Given the description of an element on the screen output the (x, y) to click on. 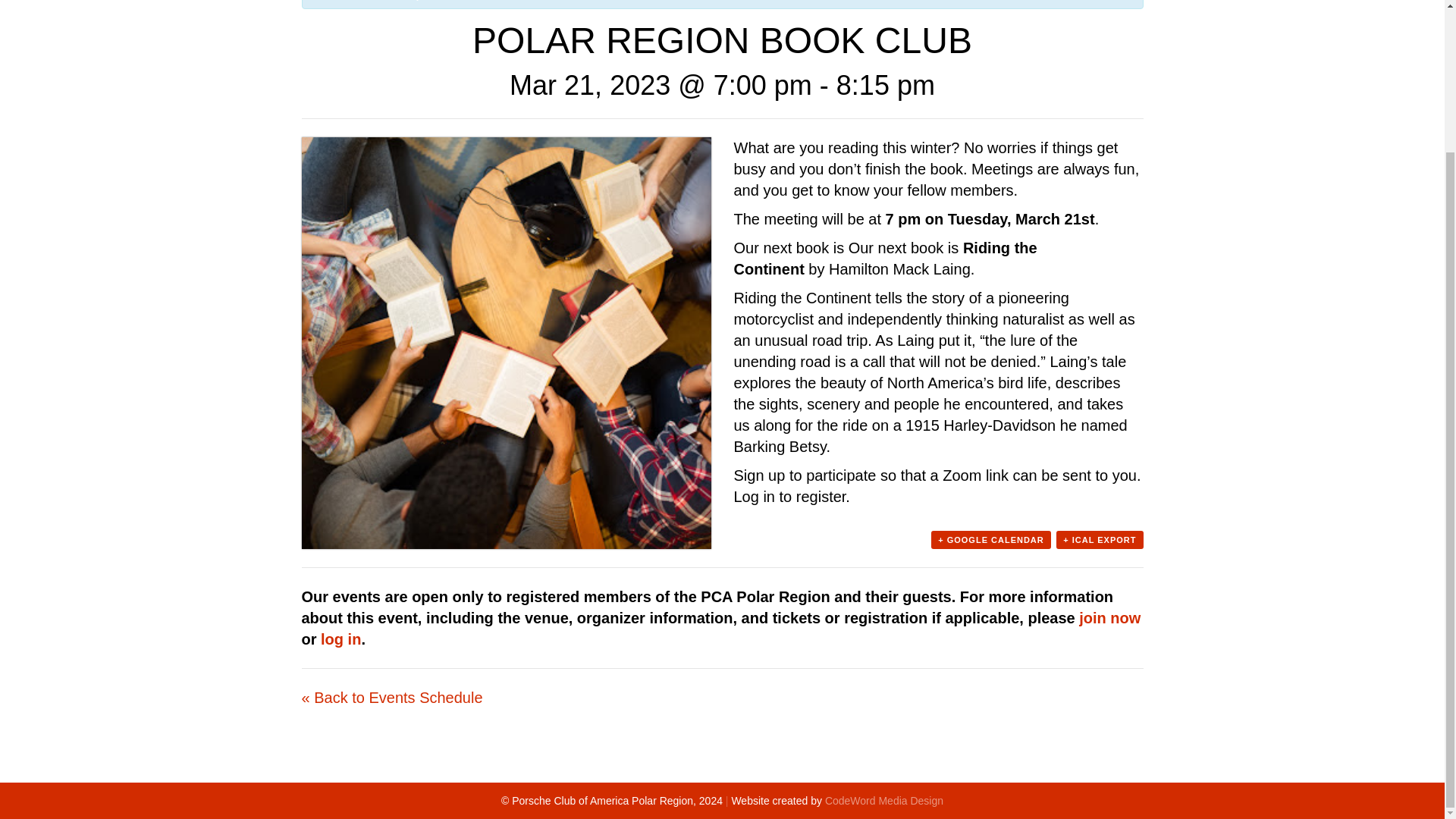
Download .ics file (1099, 539)
CodeWord Media Design (884, 800)
CodeWord Media Design (884, 800)
Add to Google Calendar (991, 539)
log in (340, 638)
join now (1109, 617)
